Given the description of an element on the screen output the (x, y) to click on. 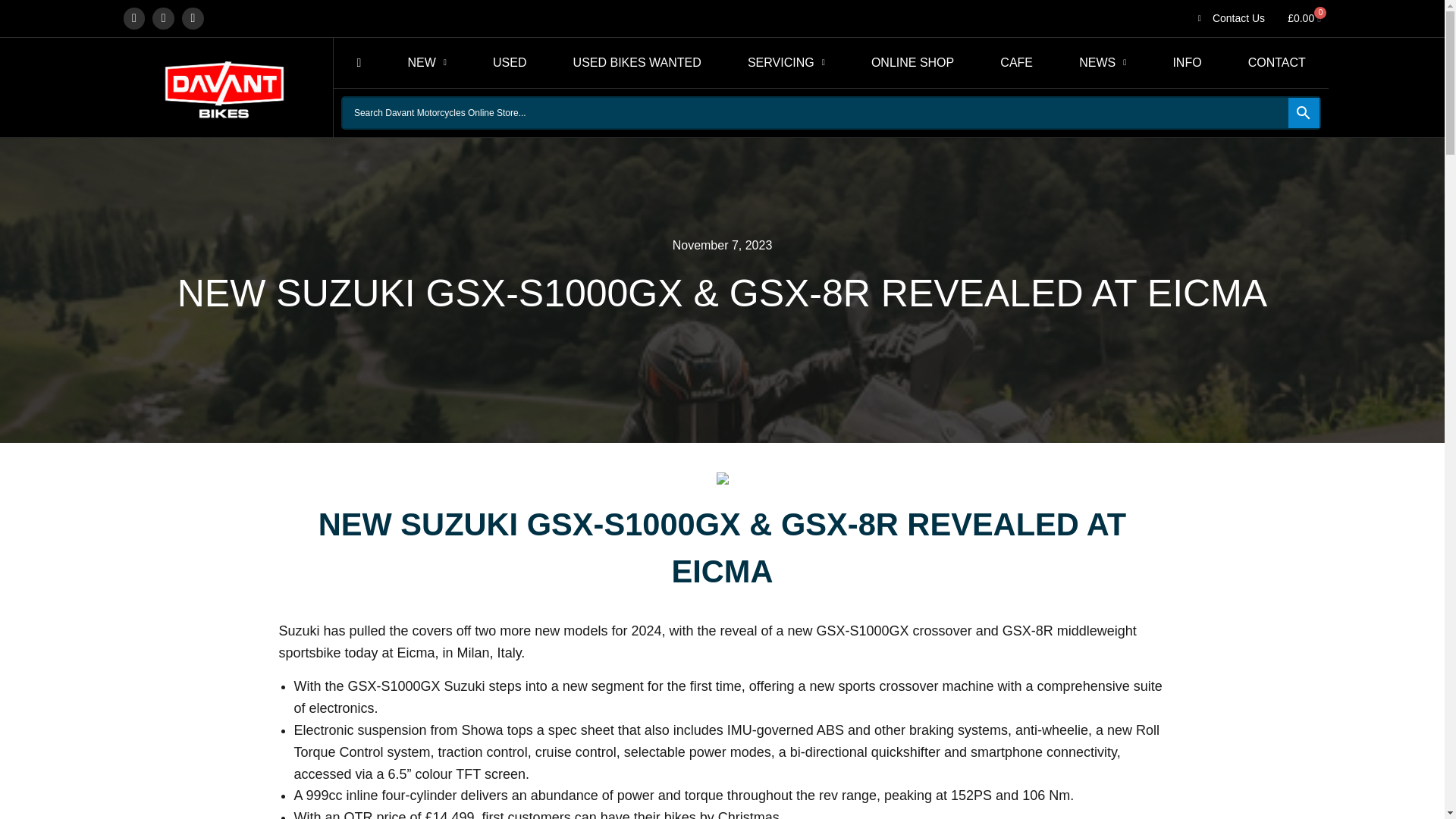
Contact Us (1228, 17)
NEW (427, 62)
NEWS (1102, 62)
INFO (1187, 62)
ONLINE SHOP (912, 62)
USED BIKES WANTED (636, 62)
CAFE (1016, 62)
USED (509, 62)
SERVICING (786, 62)
CONTACT (1275, 62)
